Given the description of an element on the screen output the (x, y) to click on. 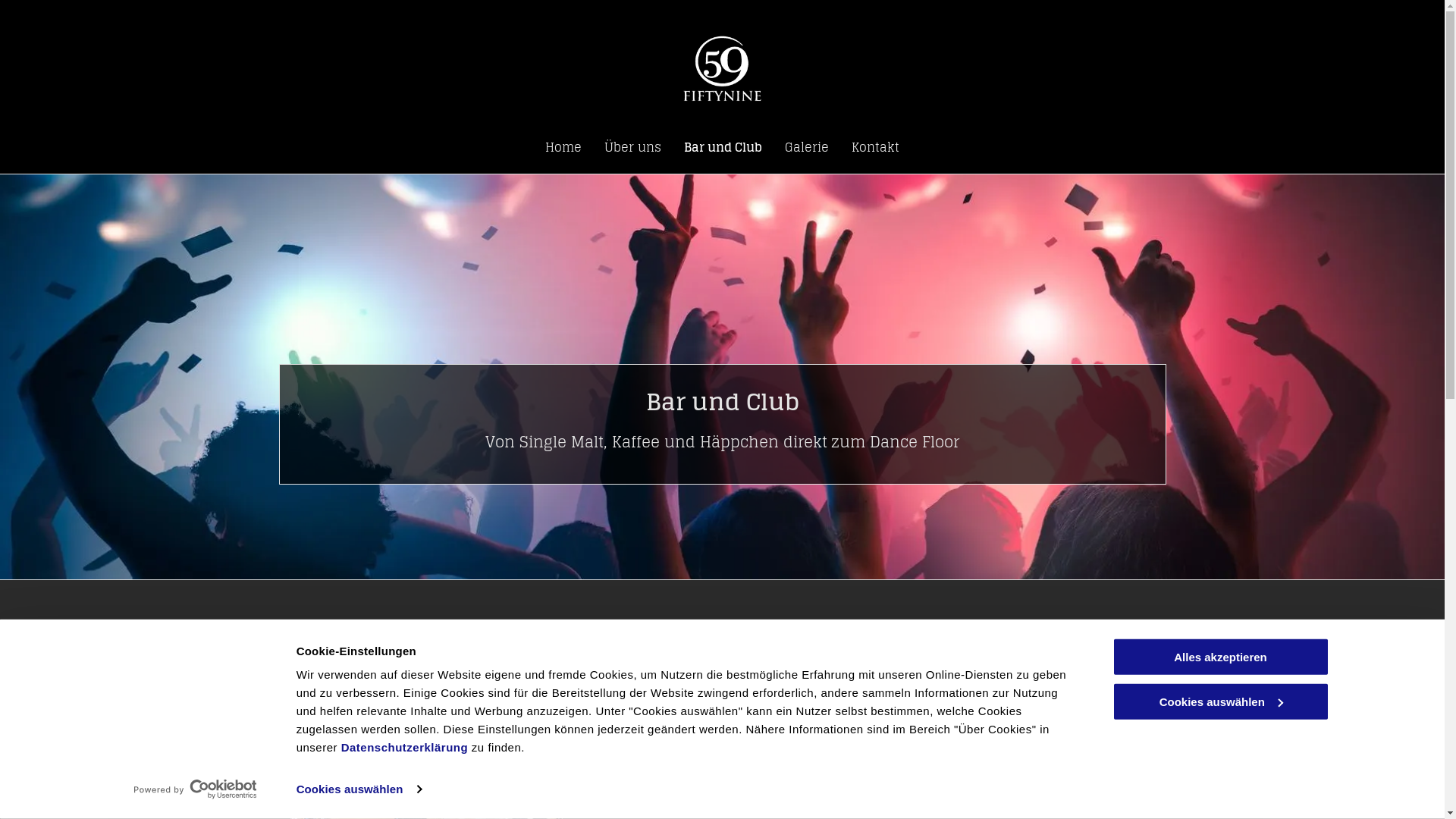
Alles akzeptieren Element type: text (1219, 656)
Bar und Club Element type: text (722, 146)
Home Element type: text (563, 146)
Kontakt Element type: text (875, 146)
Galerie Element type: text (806, 146)
